Given the description of an element on the screen output the (x, y) to click on. 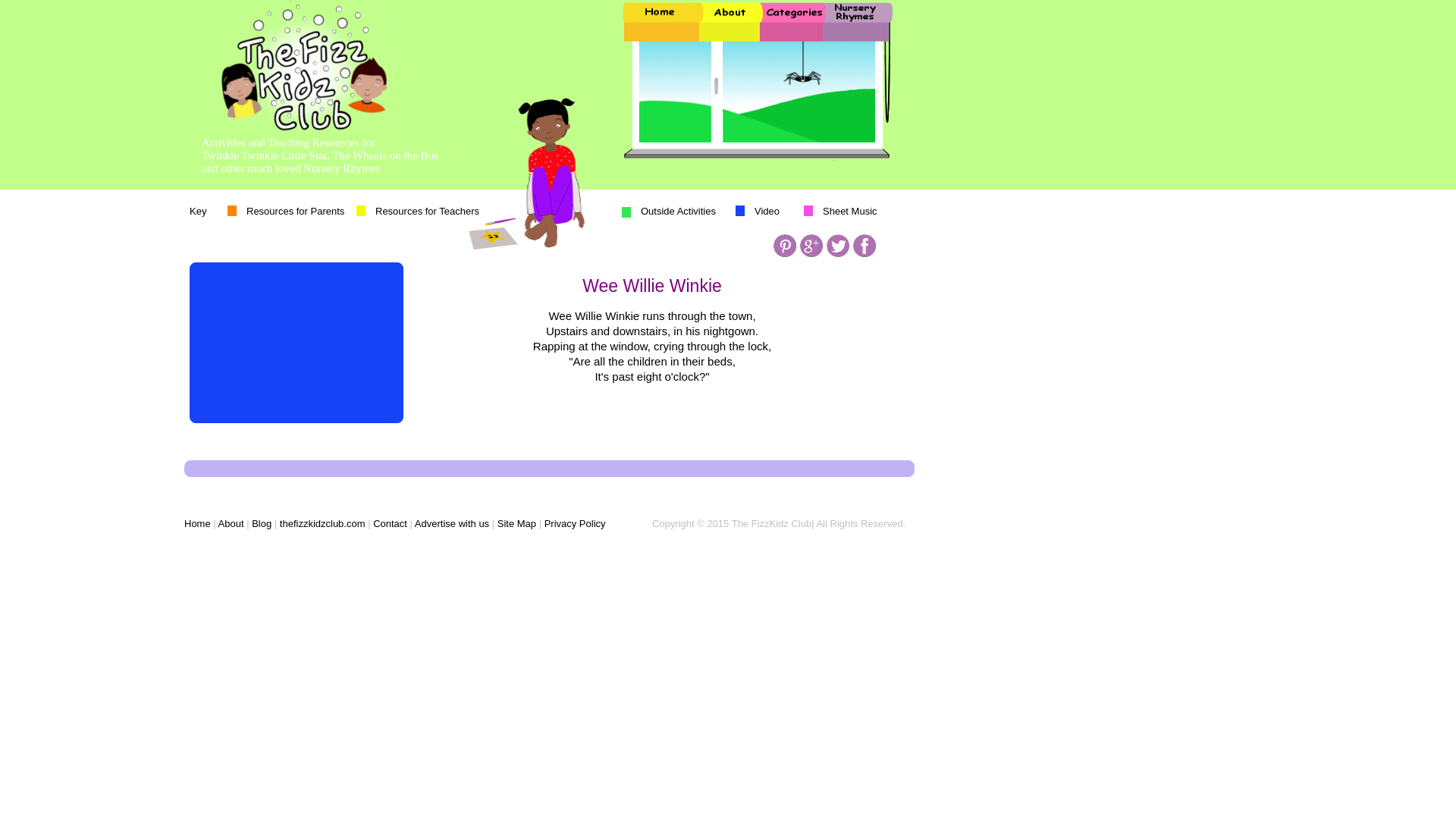
Find us on Twitter (837, 245)
Find us on Facebook (864, 245)
Find us on Pinterest (784, 245)
